Given the description of an element on the screen output the (x, y) to click on. 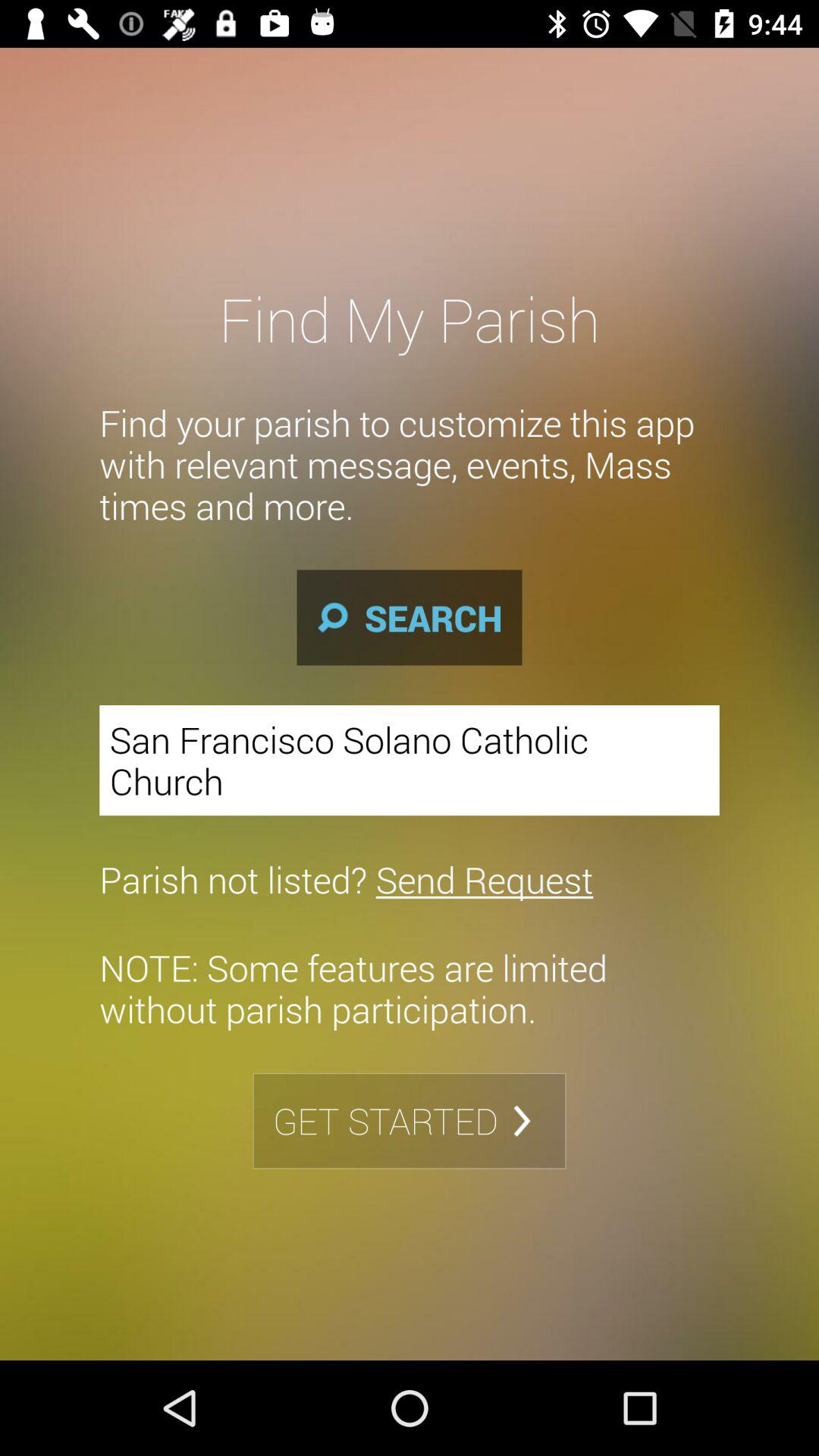
flip to the parish not listed icon (346, 879)
